Given the description of an element on the screen output the (x, y) to click on. 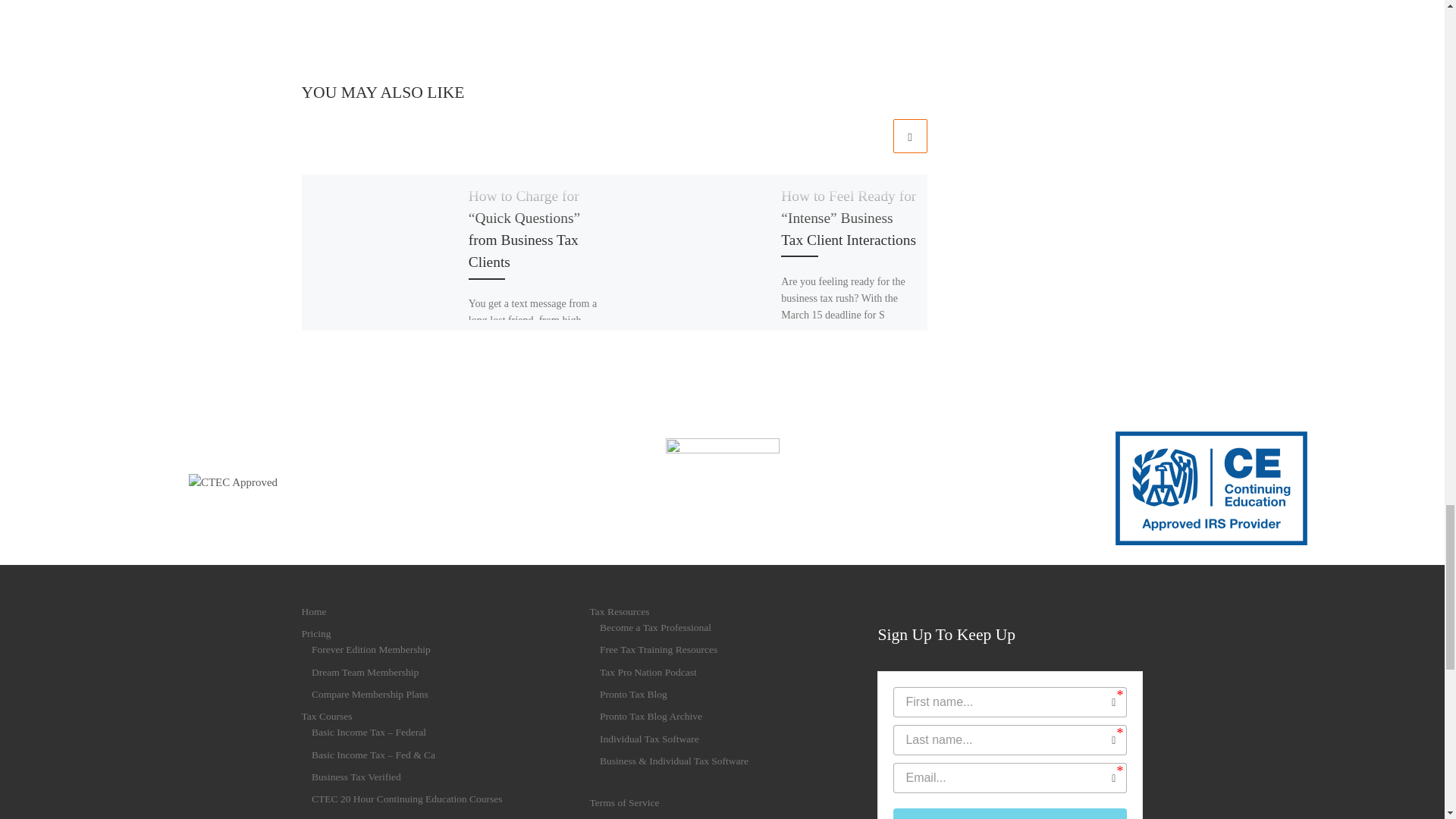
Next related articles (910, 135)
Previous related articles (872, 135)
